Given the description of an element on the screen output the (x, y) to click on. 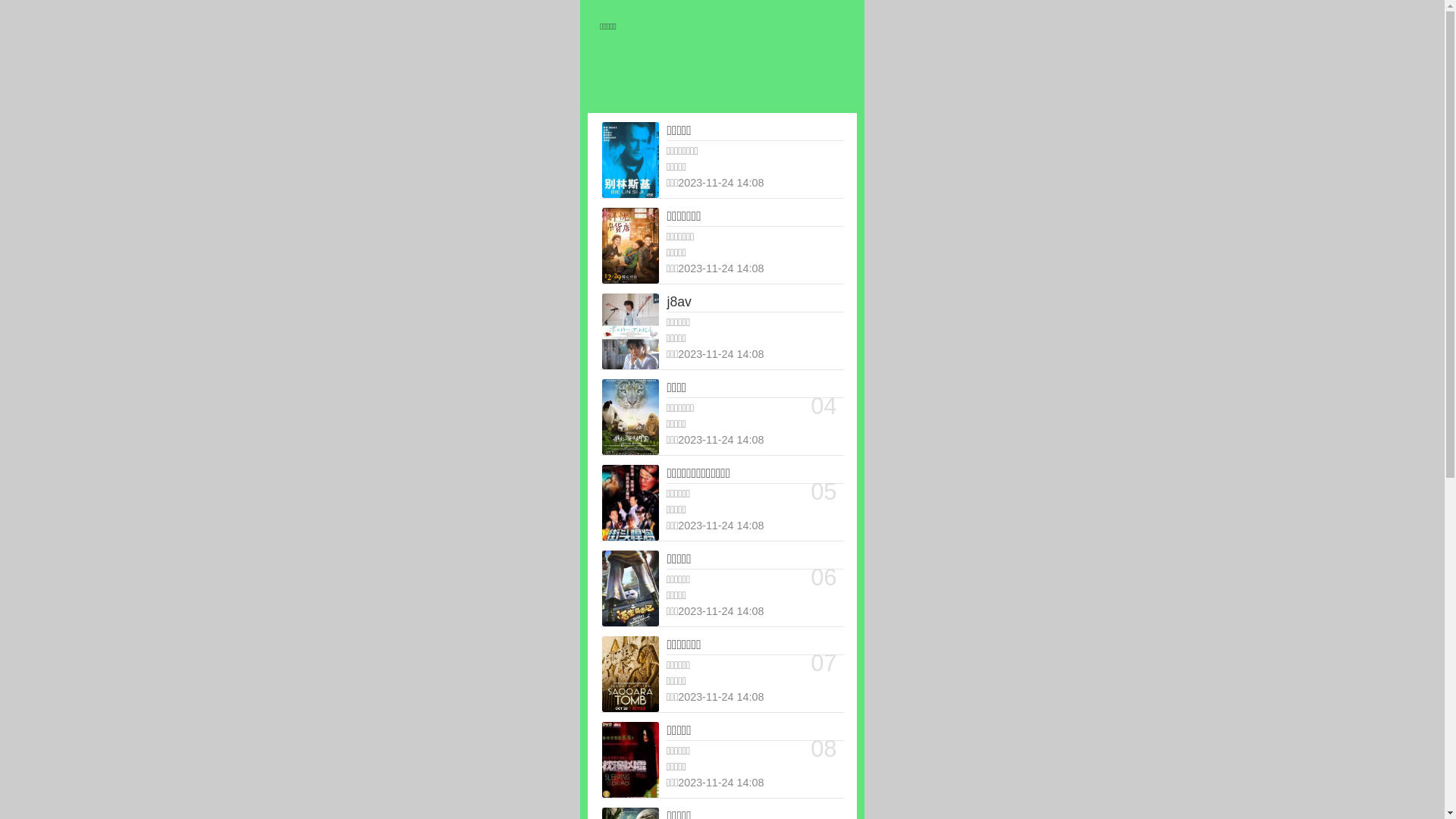
j8av Element type: text (755, 302)
